Given the description of an element on the screen output the (x, y) to click on. 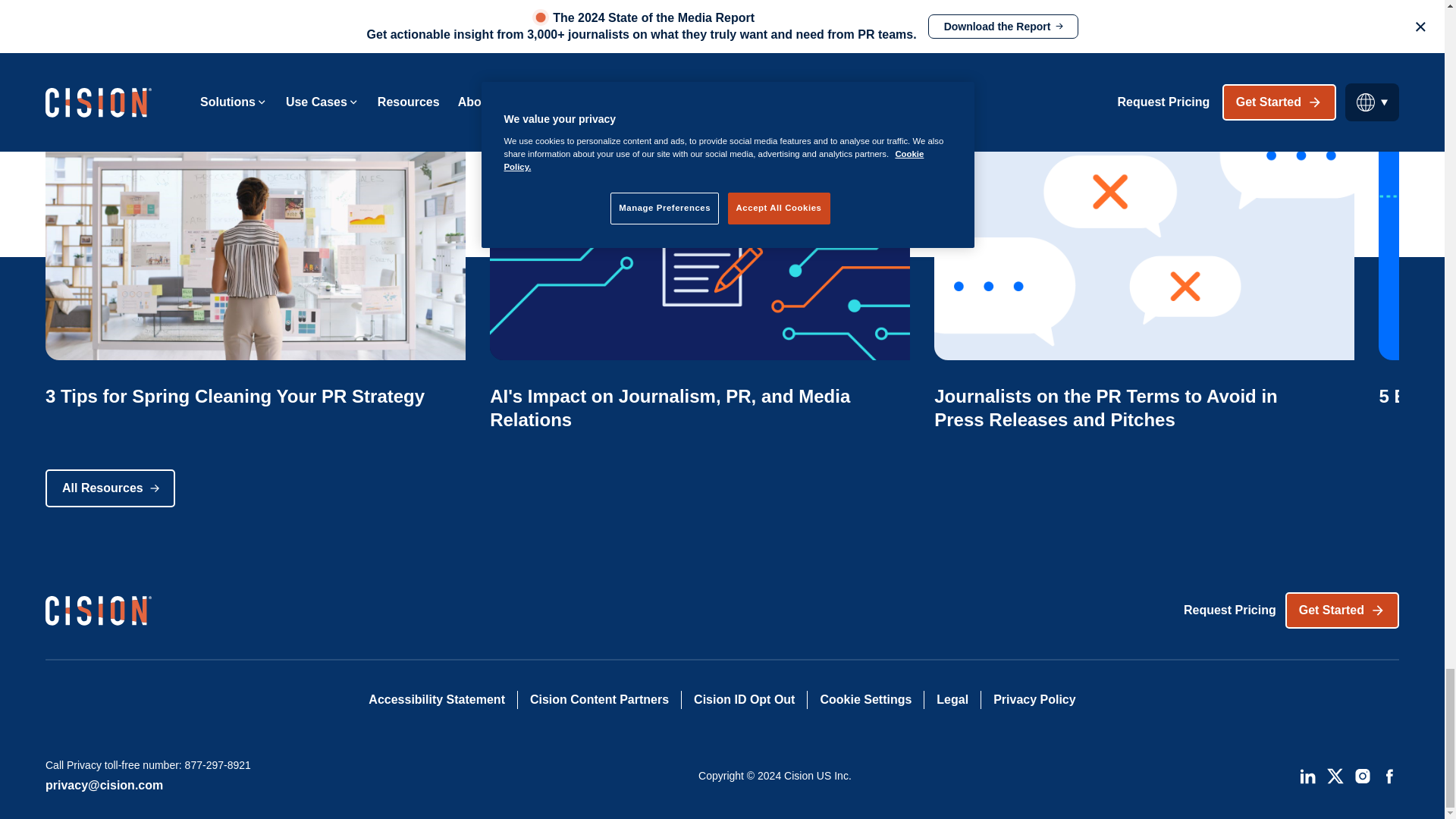
facebook (1389, 775)
instagram (1362, 775)
twitter (1334, 775)
linkedin (1307, 775)
